Given the description of an element on the screen output the (x, y) to click on. 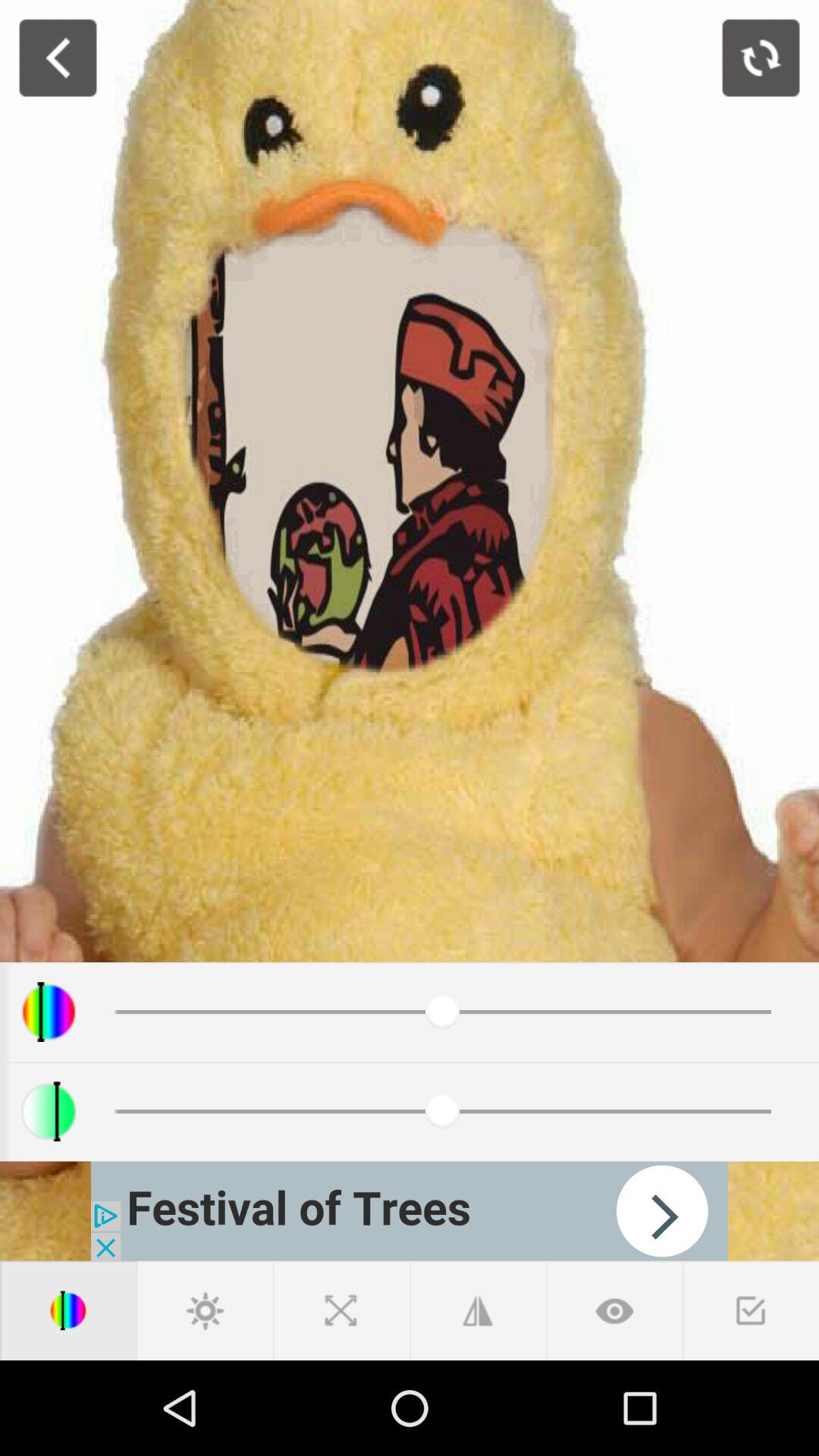
make image larger (477, 1310)
